Given the description of an element on the screen output the (x, y) to click on. 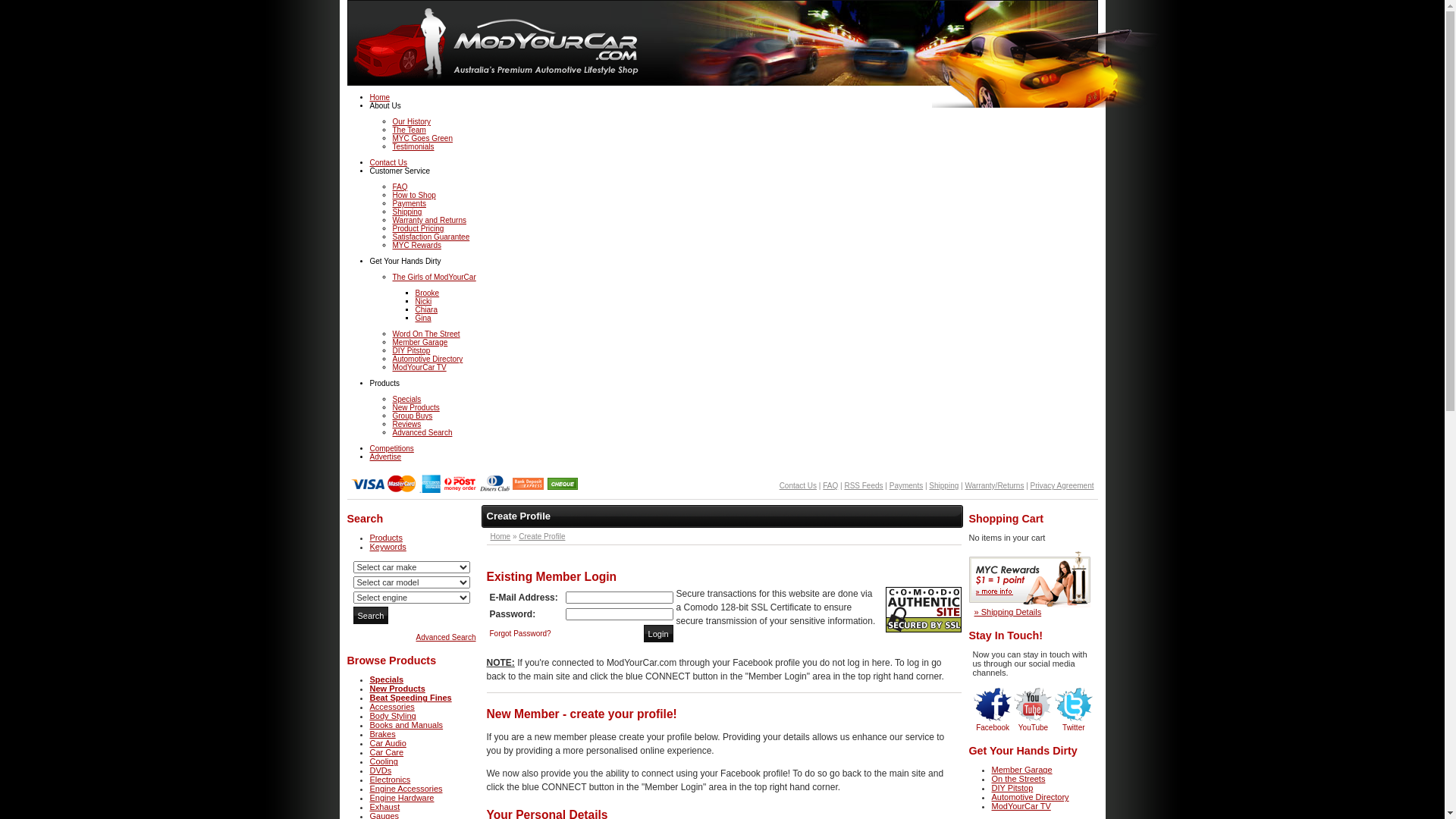
MYC Rewards Element type: text (416, 245)
Home Element type: text (380, 97)
Forgot Password? Element type: text (520, 633)
Our History Element type: text (411, 121)
RSS Feeds Element type: text (863, 485)
Automotive Directory Element type: text (427, 358)
Testimonials Element type: text (413, 146)
Reviews Element type: text (406, 424)
Advertise Element type: text (385, 456)
Car Audio Element type: text (388, 742)
Products Element type: text (386, 537)
Cooling Element type: text (384, 760)
FAQ Element type: text (399, 186)
Payment Methods Available Element type: hover (464, 490)
YouTube Element type: text (1033, 727)
ModYourCar TV Element type: text (1021, 805)
Shipping Element type: text (943, 485)
Advanced Search Element type: text (446, 637)
Product Pricing Element type: text (418, 228)
New Products Element type: text (415, 407)
Advanced Search Element type: text (422, 432)
Car Care Element type: text (387, 751)
Exhaust Element type: text (385, 806)
Beat Speeding Fines Element type: text (410, 697)
How to Shop Element type: text (414, 195)
Contact Us Element type: text (388, 162)
Privacy Agreement Element type: text (1062, 485)
Engine Accessories Element type: text (406, 788)
Keywords Element type: text (388, 546)
Facebook Element type: text (992, 727)
Group Buys Element type: text (412, 415)
Brooke Element type: text (427, 292)
Books and Manuals Element type: text (406, 724)
The Team Element type: text (409, 129)
Brakes Element type: text (382, 733)
Contact Us Element type: text (797, 485)
The Girls of ModYourCar Element type: text (434, 277)
Member Garage Element type: text (1021, 769)
Competitions Element type: text (392, 448)
Payments Element type: text (409, 203)
Chiara Element type: text (426, 309)
DIY Pitstop Element type: text (1012, 787)
New Products Element type: text (397, 688)
Create Profile Element type: text (541, 536)
Accessories Element type: text (392, 706)
Home Element type: text (499, 536)
Satisfaction Guarantee Element type: text (431, 236)
Follow us on Facebook Element type: hover (992, 704)
Body Styling Element type: text (393, 715)
ModYourCar TV Element type: text (419, 367)
Nicki Element type: text (423, 301)
FAQ Element type: text (829, 485)
Engine Hardware Element type: text (402, 797)
Warranty and Returns Element type: text (429, 220)
Automotive Directory Element type: text (1030, 796)
Payments Element type: text (905, 485)
Search Element type: text (371, 615)
DIY Pitstop Element type: text (411, 350)
Word On The Street Element type: text (426, 333)
DVDs Element type: text (381, 770)
Warranty/Returns Element type: text (993, 485)
Twitter Element type: text (1073, 727)
Shipping Element type: text (407, 211)
On the Streets Element type: text (1018, 778)
MYC Goes Green Element type: text (422, 138)
Login Element type: text (658, 633)
Gina Element type: text (423, 317)
Follow us on Twitter Element type: hover (1073, 704)
Follow us on YouTube Element type: hover (1032, 704)
Electronics Element type: text (390, 779)
Specials Element type: text (387, 679)
Specials Element type: text (406, 399)
Member Garage Element type: text (420, 342)
